Given the description of an element on the screen output the (x, y) to click on. 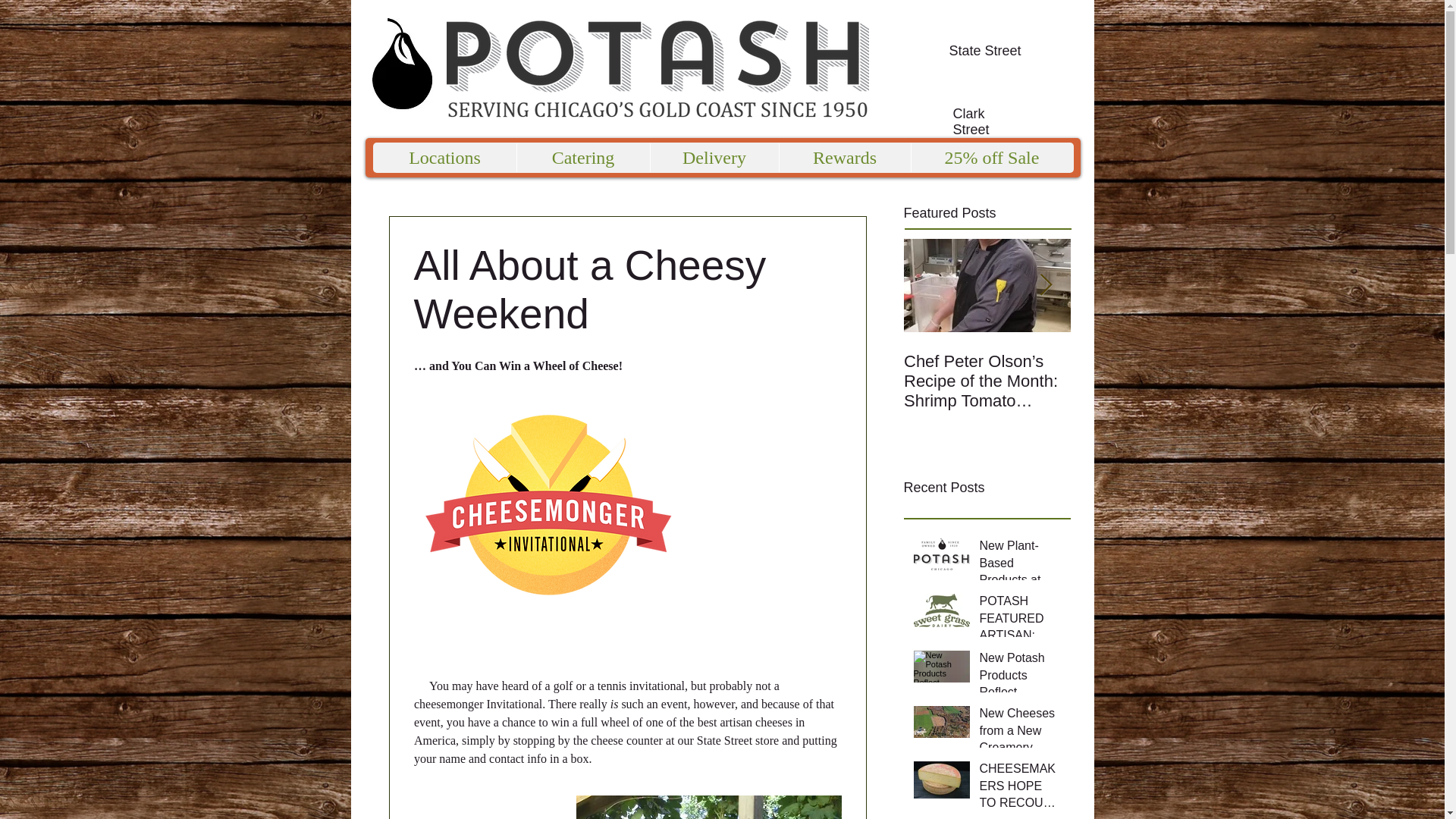
Locations (443, 157)
New Potash Products Reflect Nutritional Trends (1020, 678)
Green Dirt and Cheese (1153, 371)
Delivery (713, 157)
CHEESEMAKERS HOPE TO RECOUP AFTER LOCKDOWN (1020, 788)
New Cheeses from a New Creamery (1020, 733)
Rewards (843, 157)
Catering (582, 157)
POTASH FEATURED ARTISAN: Sweet Grass Dairy, Thomasville, Ga. (1020, 621)
New Plant-Based Products at Clark Street Store (1020, 565)
